Given the description of an element on the screen output the (x, y) to click on. 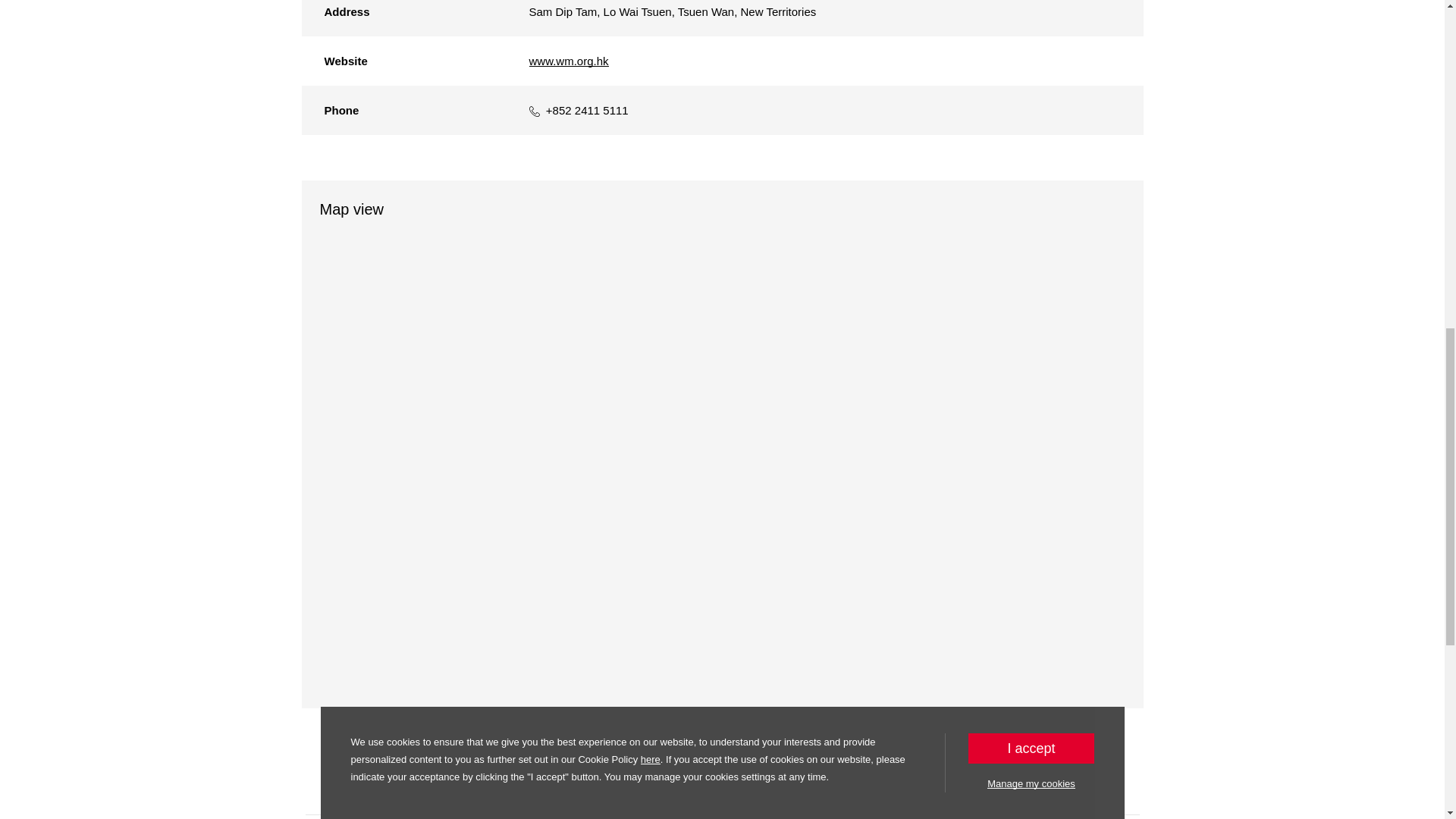
phone-handset (534, 111)
